Given the description of an element on the screen output the (x, y) to click on. 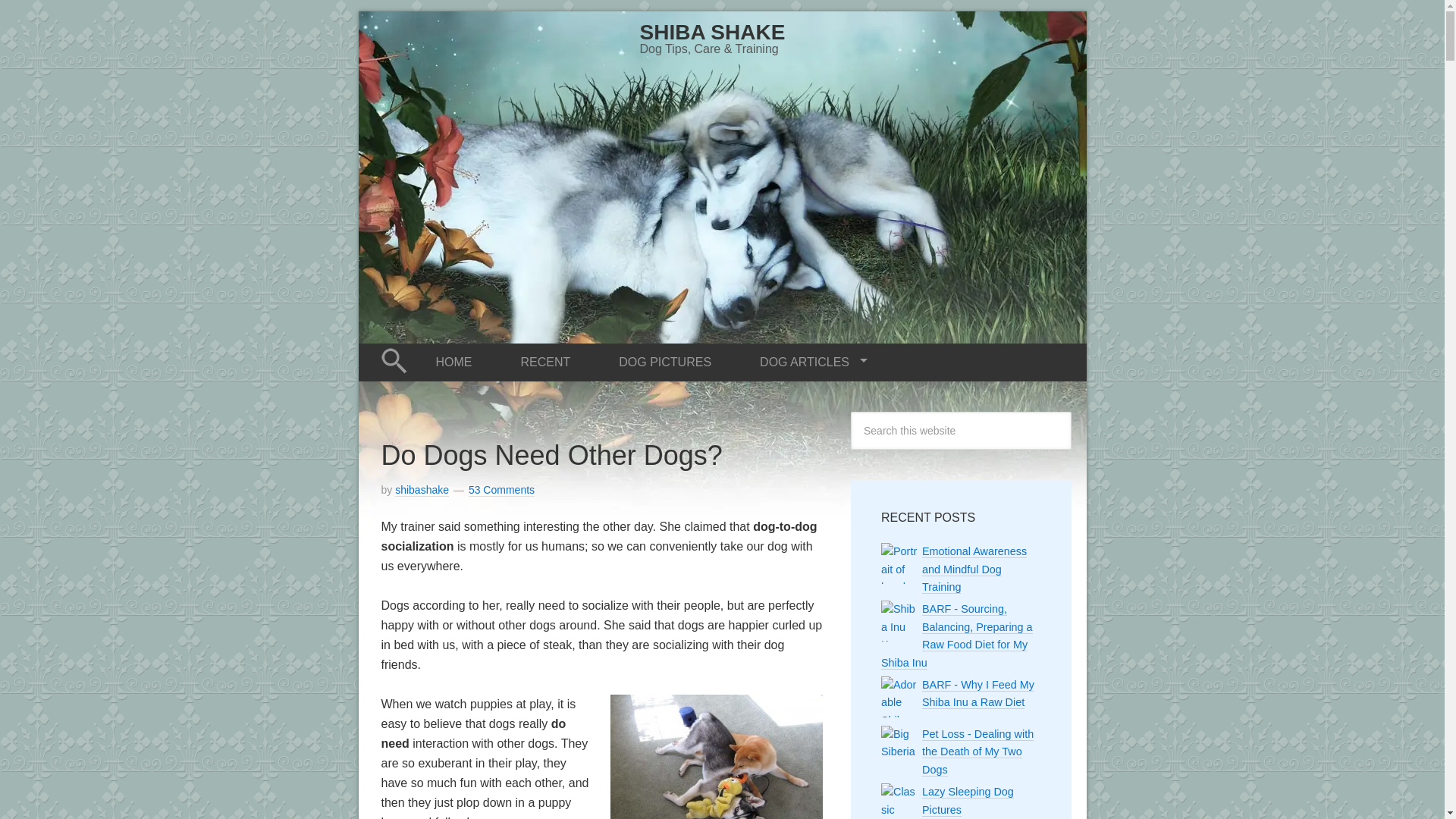
BARF - Why I Feed My Shiba Inu a Raw Diet (977, 693)
RECENT (545, 360)
DOG ARTICLES (807, 360)
SHIBA SHAKE (713, 32)
Lazy Sleeping Dog Pictures (967, 800)
53 Comments (501, 490)
Emotional Awareness and Mindful Dog Training (973, 569)
